Given the description of an element on the screen output the (x, y) to click on. 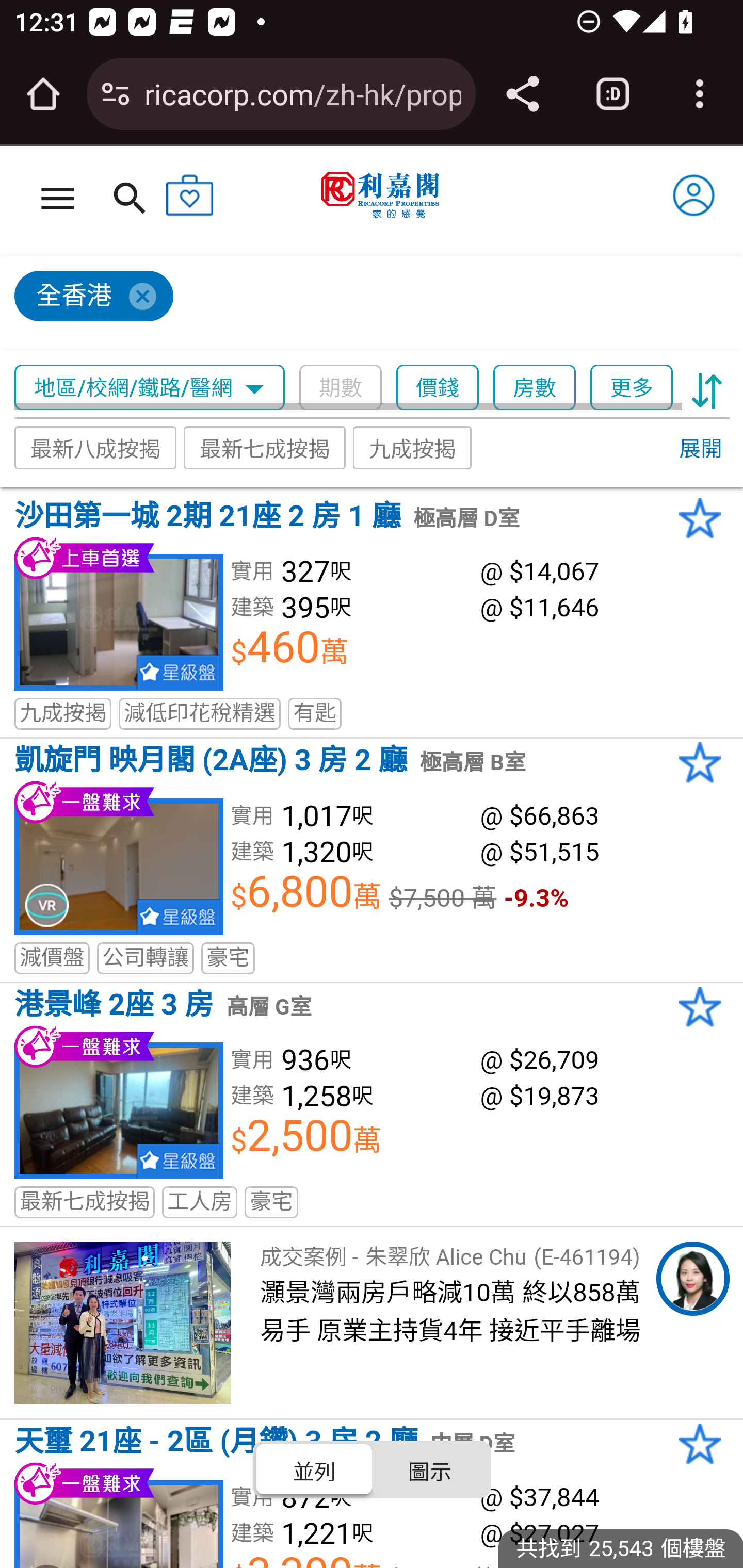
Open the home page (43, 93)
Connection is secure (115, 93)
Share (522, 93)
Switch or close tabs (612, 93)
Customize and control Google Chrome (699, 93)
ricacorp.com/zh-hk/property/list/buy (302, 92)
